Given the description of an element on the screen output the (x, y) to click on. 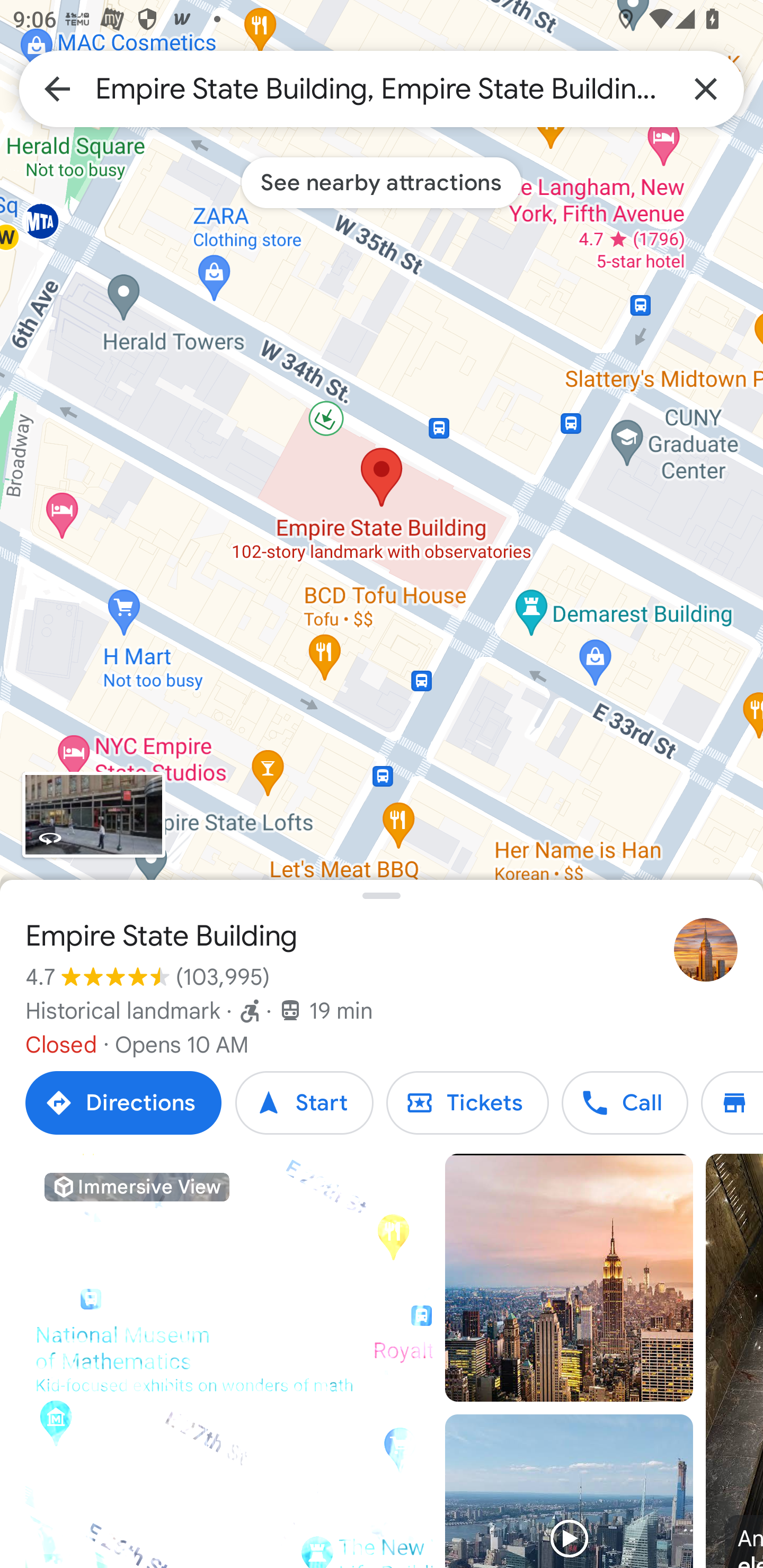
Back (57, 88)
Clear (705, 88)
See nearby attractions (381, 182)
View Street view imagery for Empire State Building (93, 814)
Start Start Start (304, 1102)
Tickets (467, 1102)
Directory Directory Directory (732, 1102)
Video Immersive View (228, 1361)
Photo (568, 1277)
Video (568, 1491)
